Given the description of an element on the screen output the (x, y) to click on. 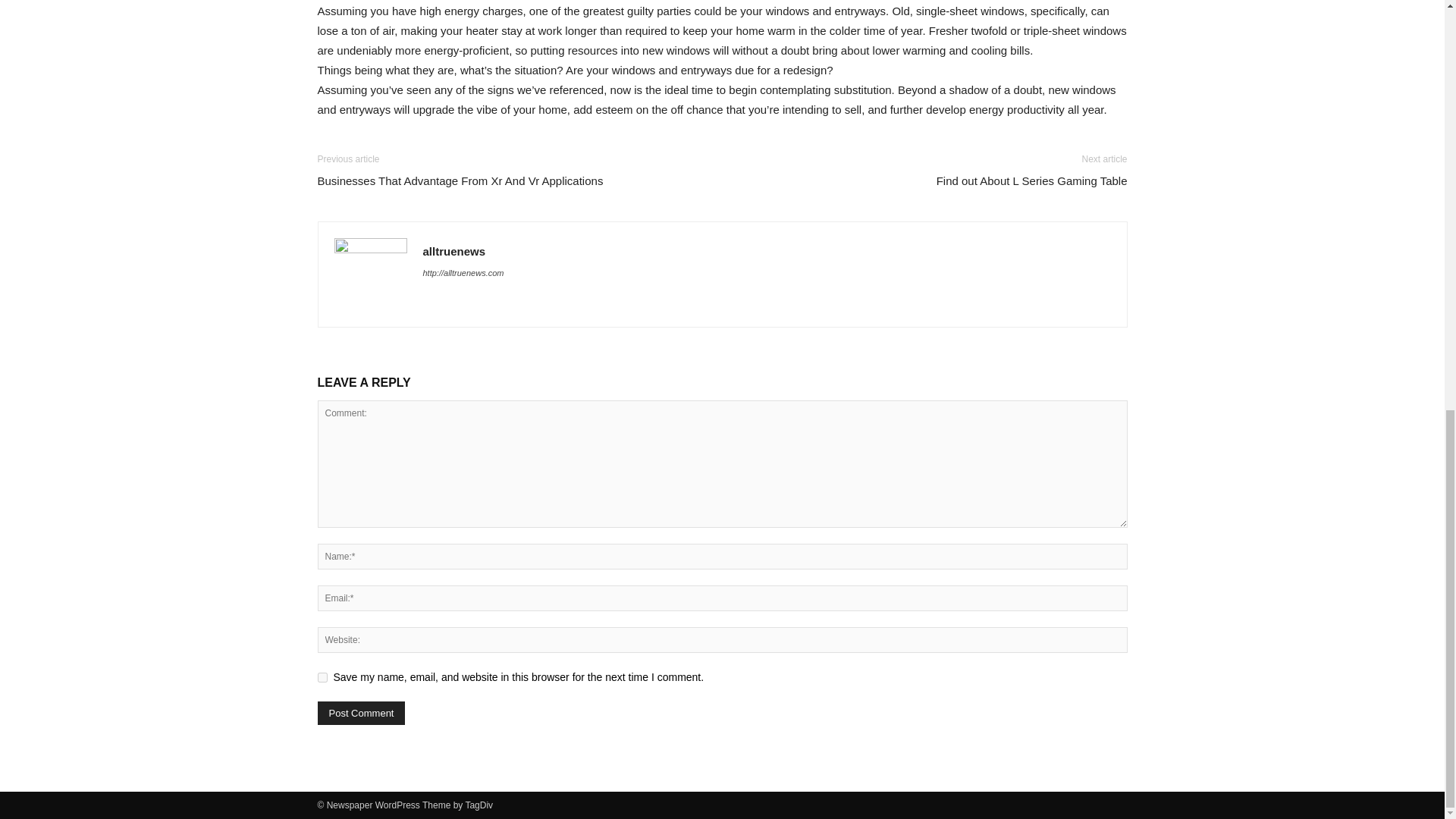
Post Comment (360, 712)
yes (321, 677)
alltruenews (454, 250)
Post Comment (360, 712)
Businesses That Advantage From Xr And Vr Applications (459, 180)
Find out About L Series Gaming Table (1031, 180)
